Given the description of an element on the screen output the (x, y) to click on. 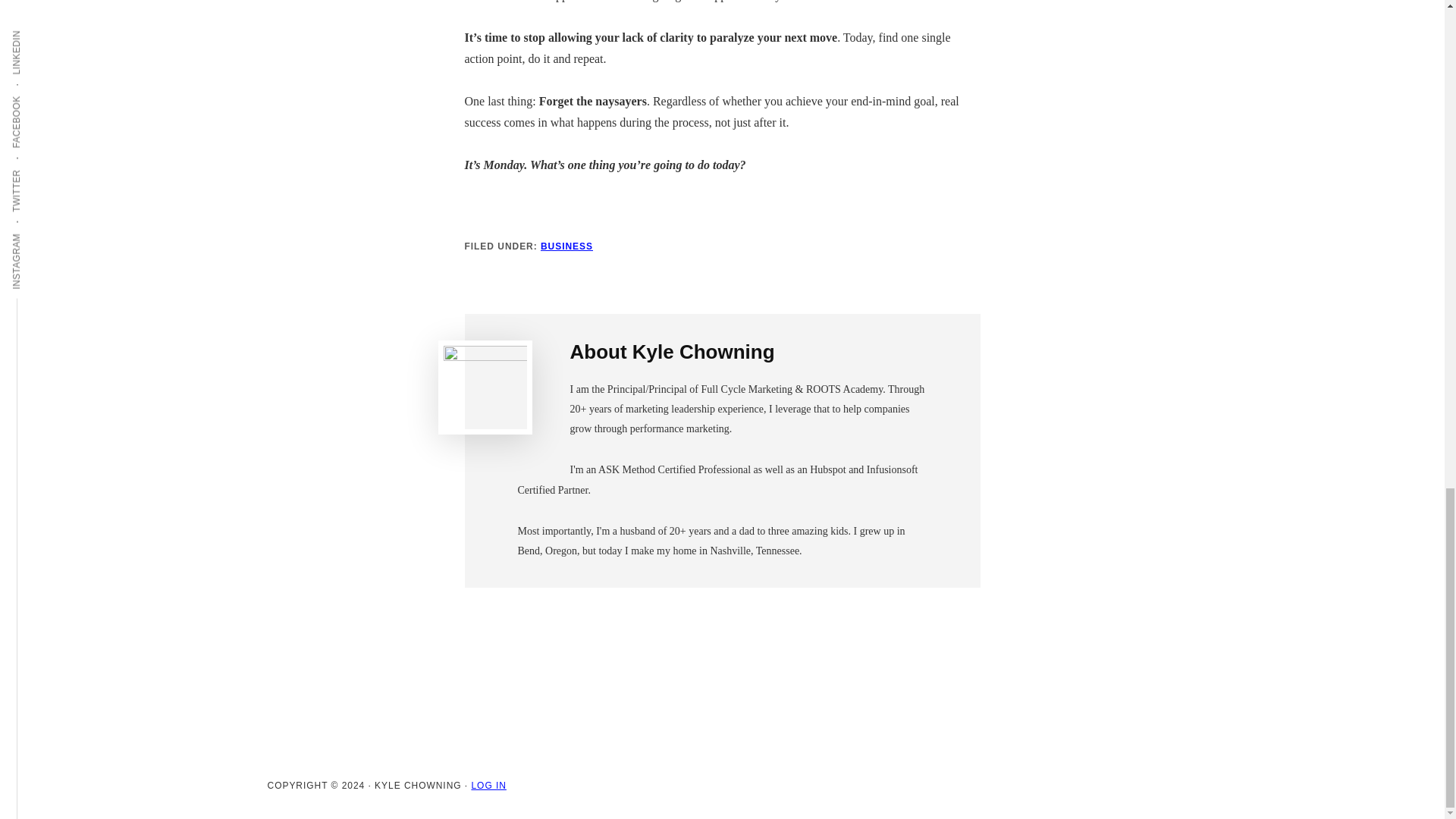
BUSINESS (566, 245)
LOG IN (487, 785)
